Given the description of an element on the screen output the (x, y) to click on. 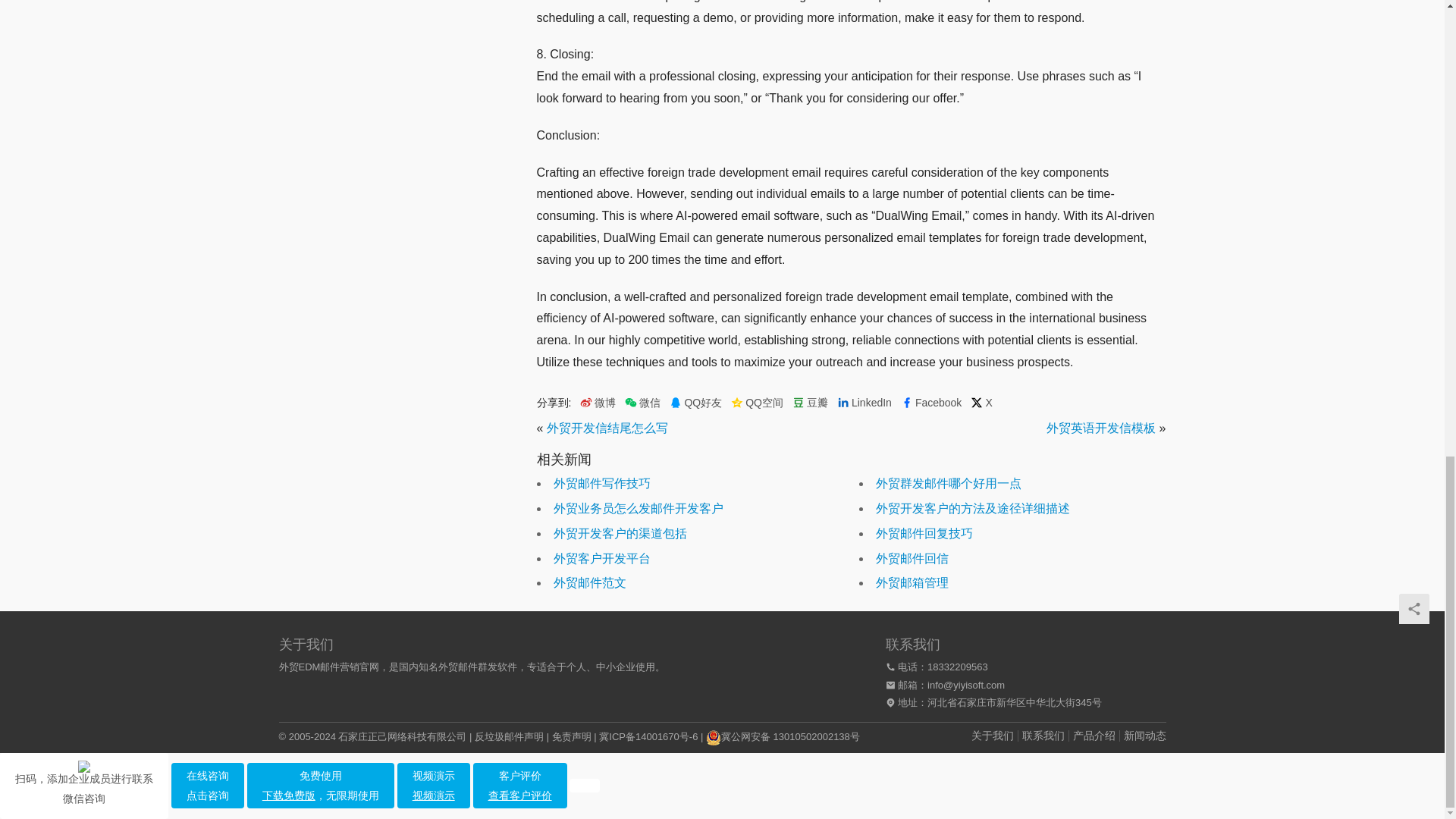
Facebook (930, 402)
X (981, 402)
LinkedIn (864, 402)
